Given the description of an element on the screen output the (x, y) to click on. 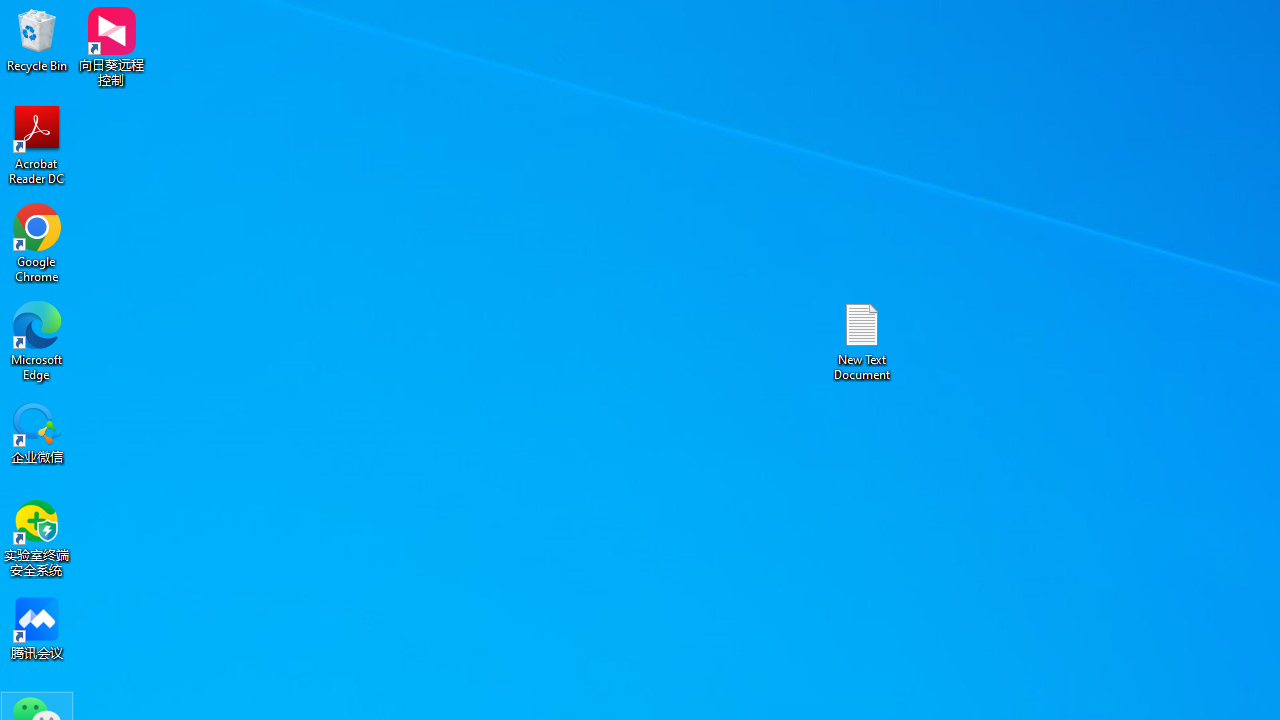
Acrobat Reader DC (37, 144)
New Text Document (861, 340)
Microsoft Edge (37, 340)
Recycle Bin (37, 39)
Google Chrome (37, 242)
